Given the description of an element on the screen output the (x, y) to click on. 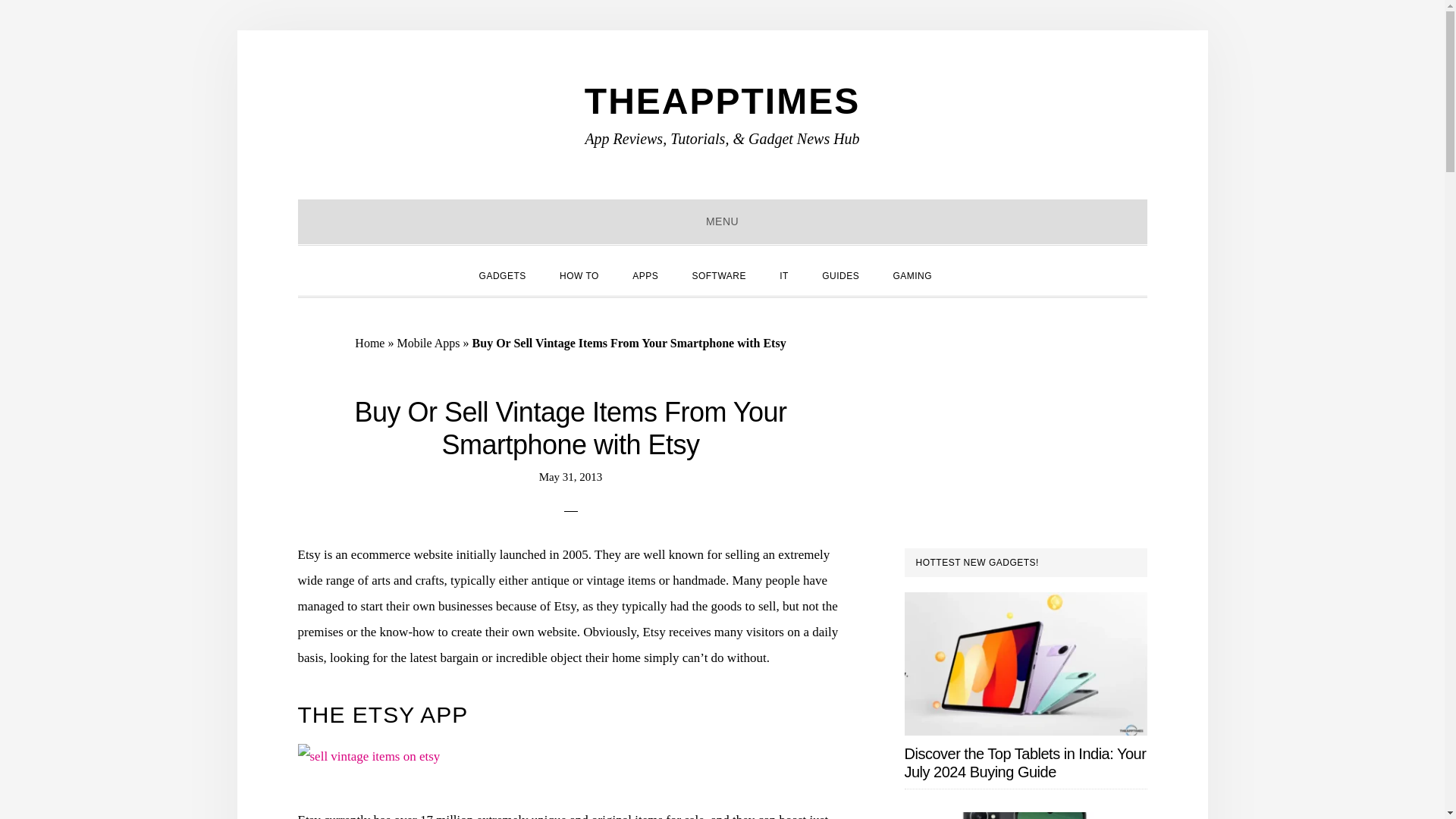
THEAPPTIMES (722, 101)
SOFTWARE (719, 274)
etsy (368, 756)
Mobile Apps (428, 342)
SHOW SEARCH (964, 262)
IT (783, 274)
GUIDES (840, 274)
GADGETS (502, 274)
